Given the description of an element on the screen output the (x, y) to click on. 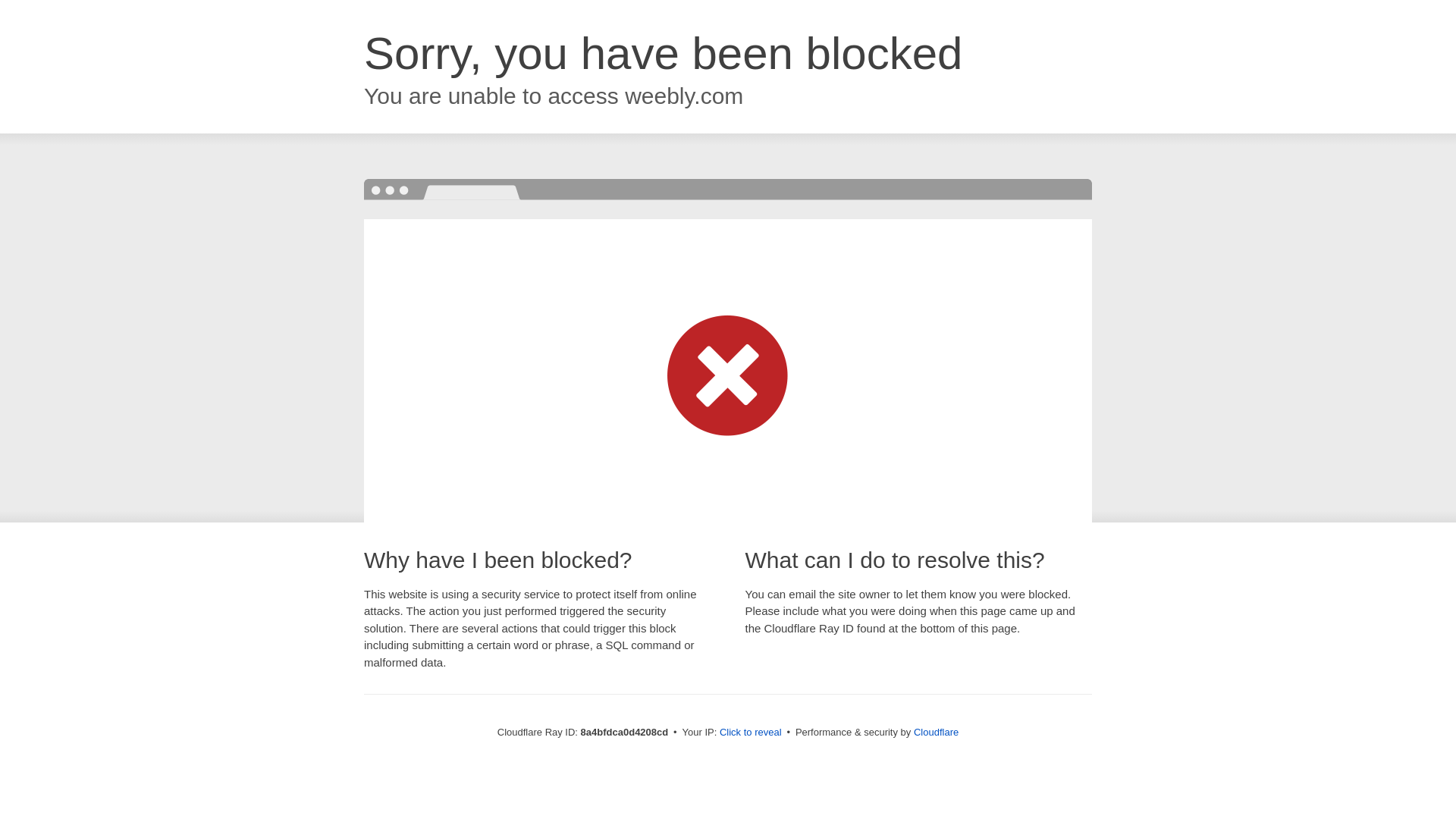
Click to reveal (750, 732)
Cloudflare (936, 731)
